Given the description of an element on the screen output the (x, y) to click on. 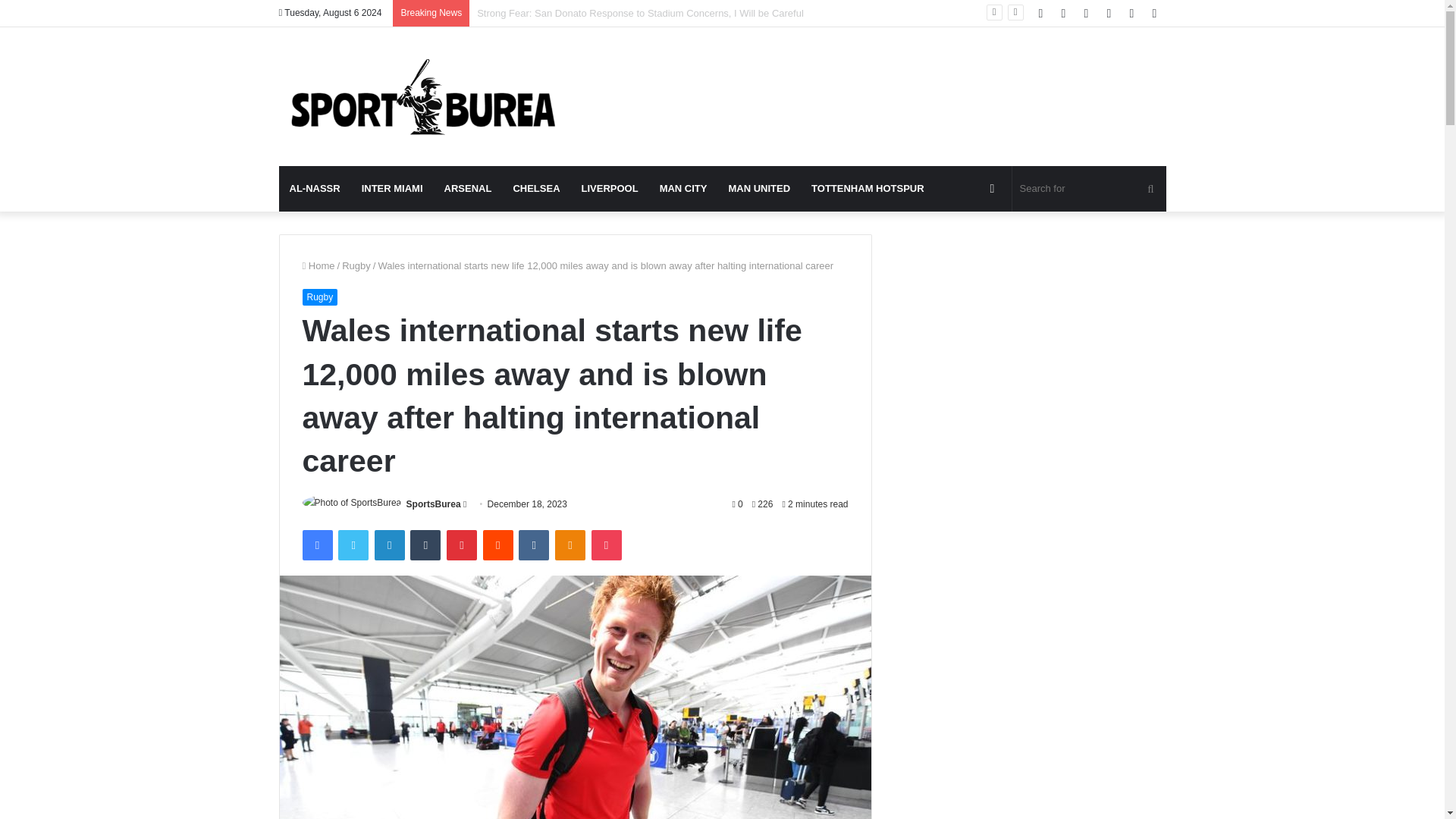
Rugby (356, 265)
INTER MIAMI (391, 188)
VKontakte (533, 544)
Reddit (498, 544)
Search for (1088, 188)
AL-NASSR (314, 188)
ARSENAL (467, 188)
Pocket (606, 544)
MAN UNITED (758, 188)
CHELSEA (536, 188)
